Given the description of an element on the screen output the (x, y) to click on. 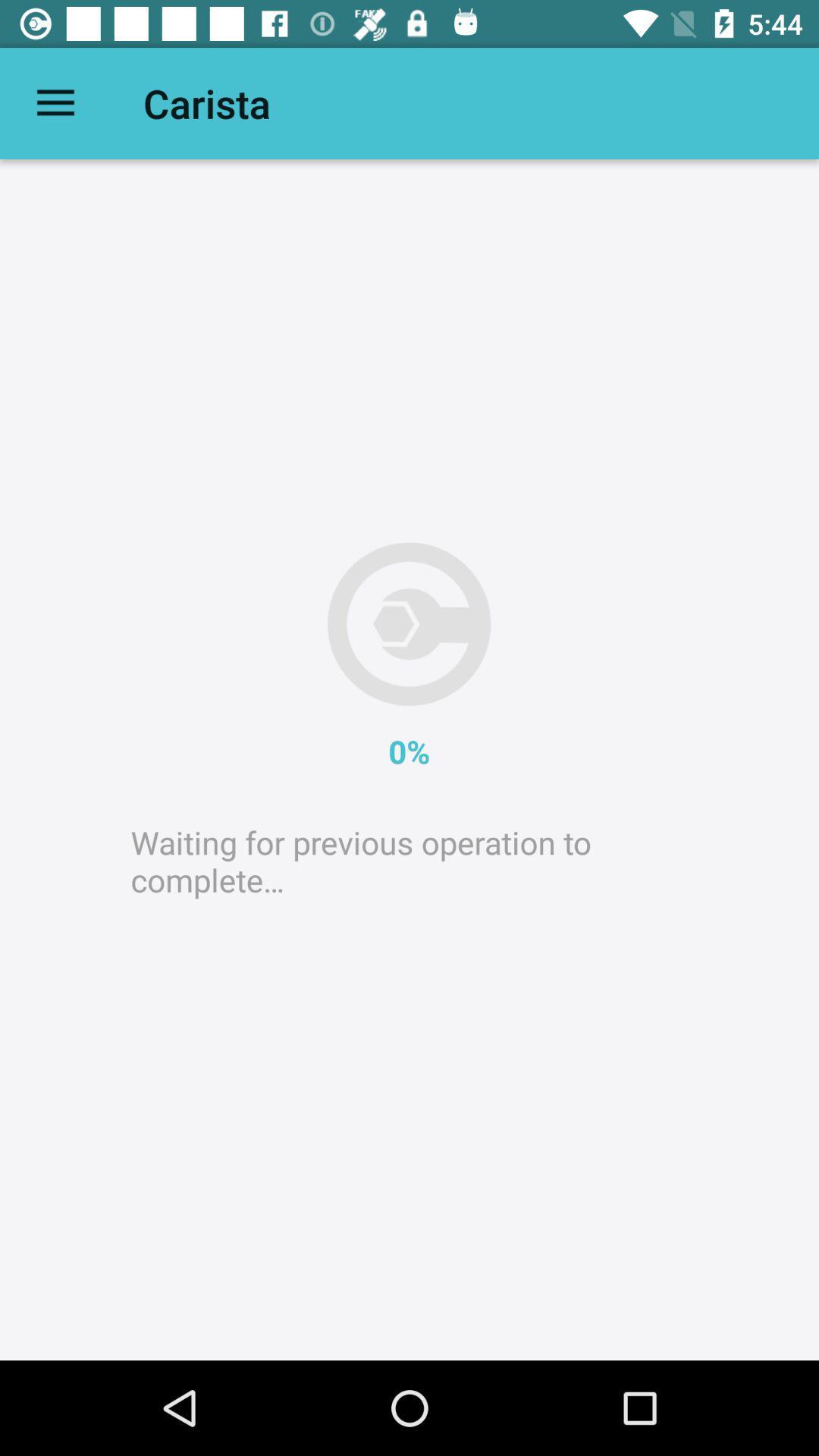
press item to the left of carista icon (55, 103)
